Given the description of an element on the screen output the (x, y) to click on. 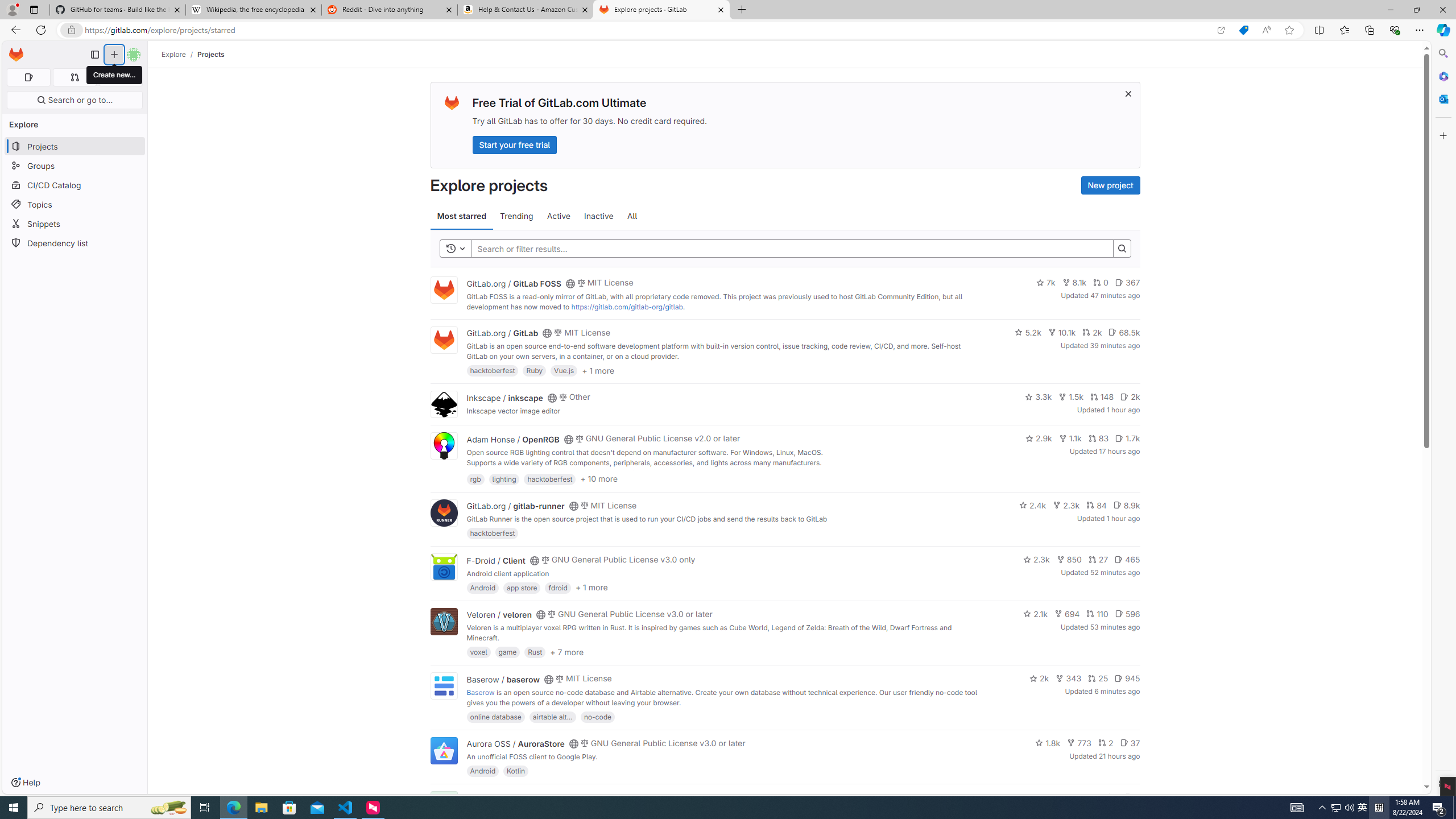
25 (1097, 678)
Trending (516, 216)
8.9k (1126, 504)
945 (1127, 678)
143 (1085, 797)
rgb (475, 478)
2.1k (1035, 613)
2 (1105, 742)
Dependency list (74, 242)
465 (1127, 559)
